Given the description of an element on the screen output the (x, y) to click on. 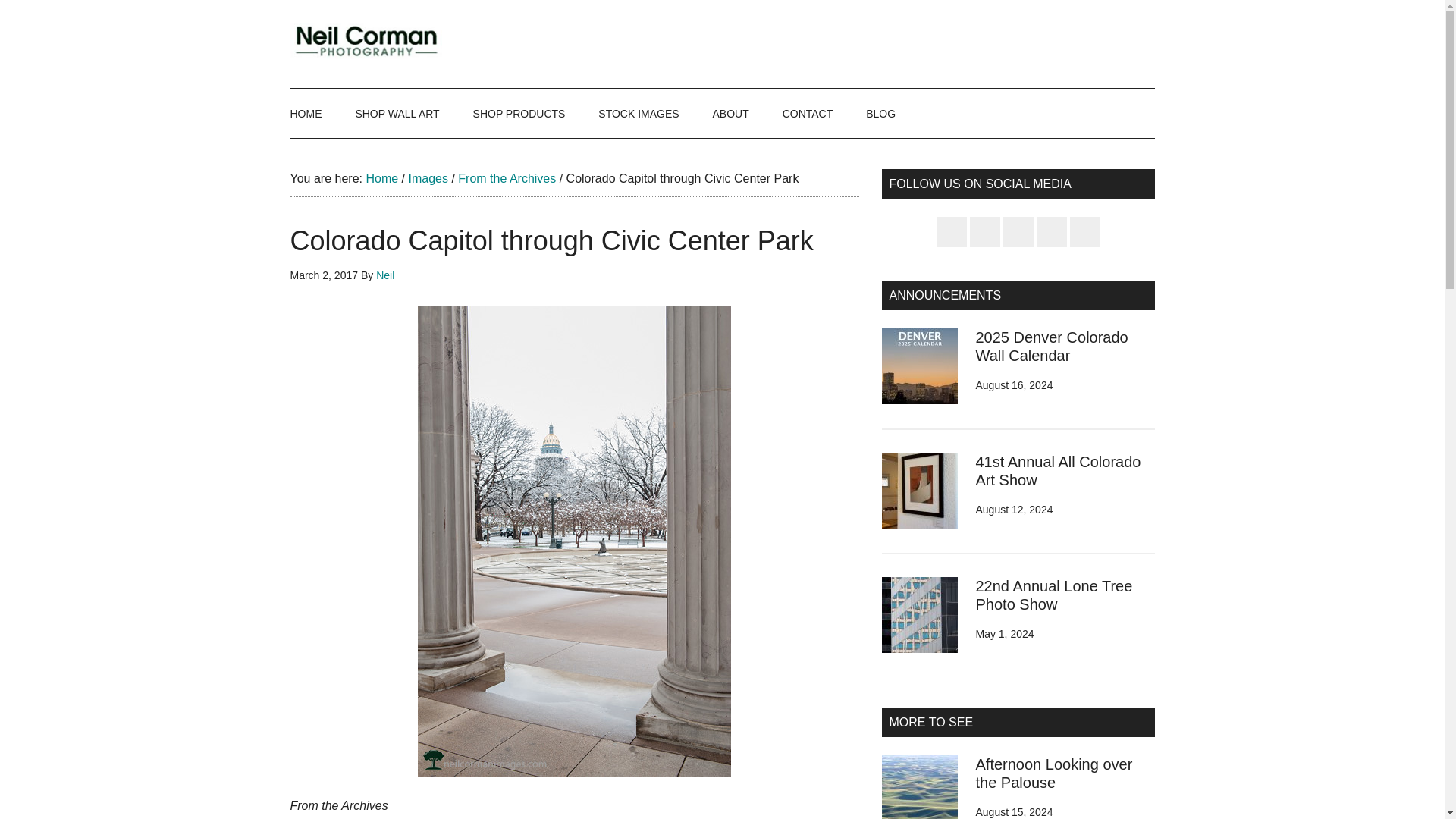
SHOP WALL ART (396, 113)
SHOP PRODUCTS (519, 113)
Neil (384, 274)
Images (426, 177)
Home (381, 177)
From the Archives (507, 177)
HOME (312, 113)
CONTACT (807, 113)
BLOG (880, 113)
